Given the description of an element on the screen output the (x, y) to click on. 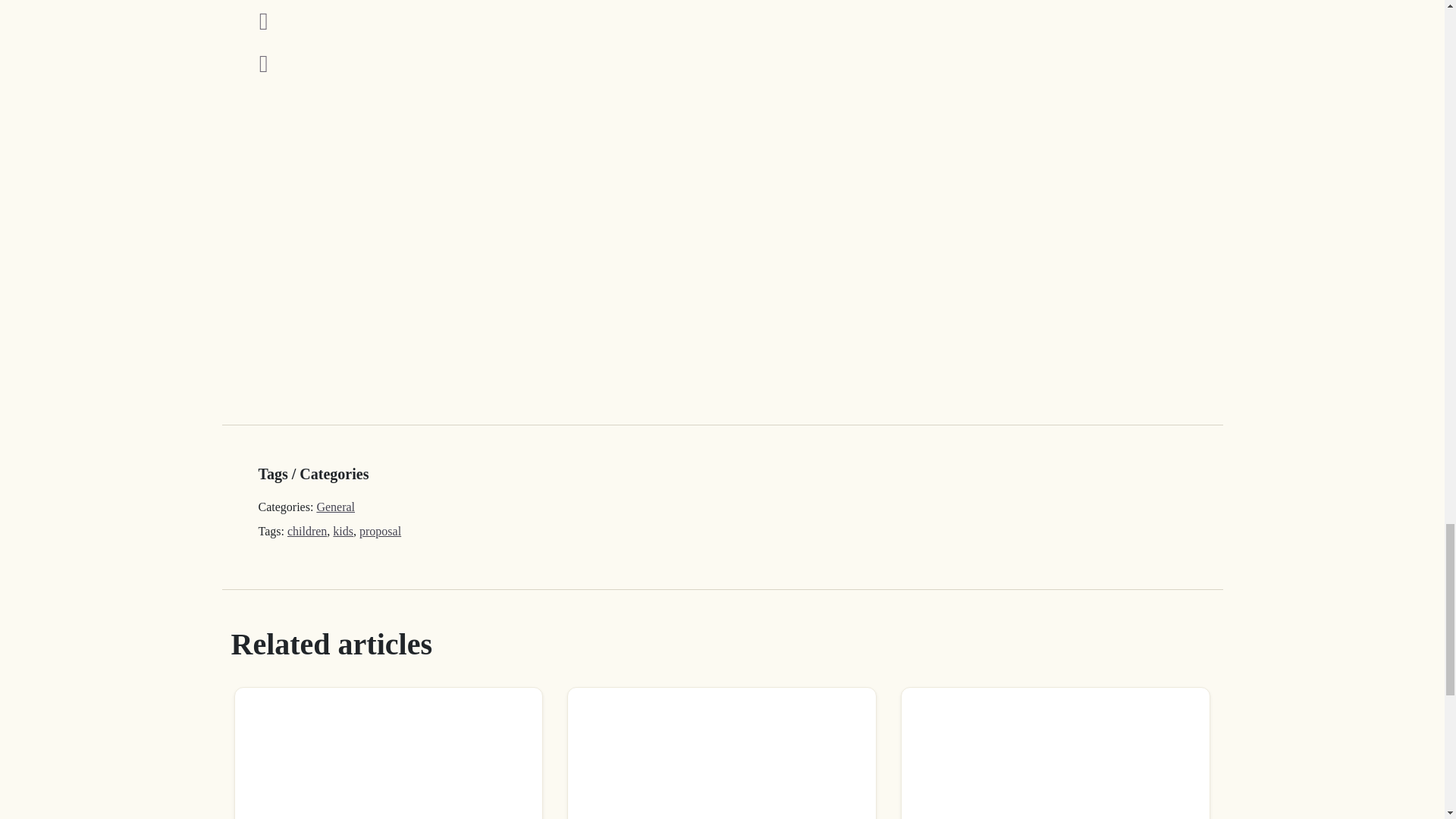
7 place cards ideas that can also be wedding favours! (721, 753)
All you need to know about anniversary milestones (388, 753)
Gorgeous black wedding inspiration for you! (1055, 753)
General (335, 506)
kids (343, 530)
proposal (380, 530)
children (306, 530)
